Given the description of an element on the screen output the (x, y) to click on. 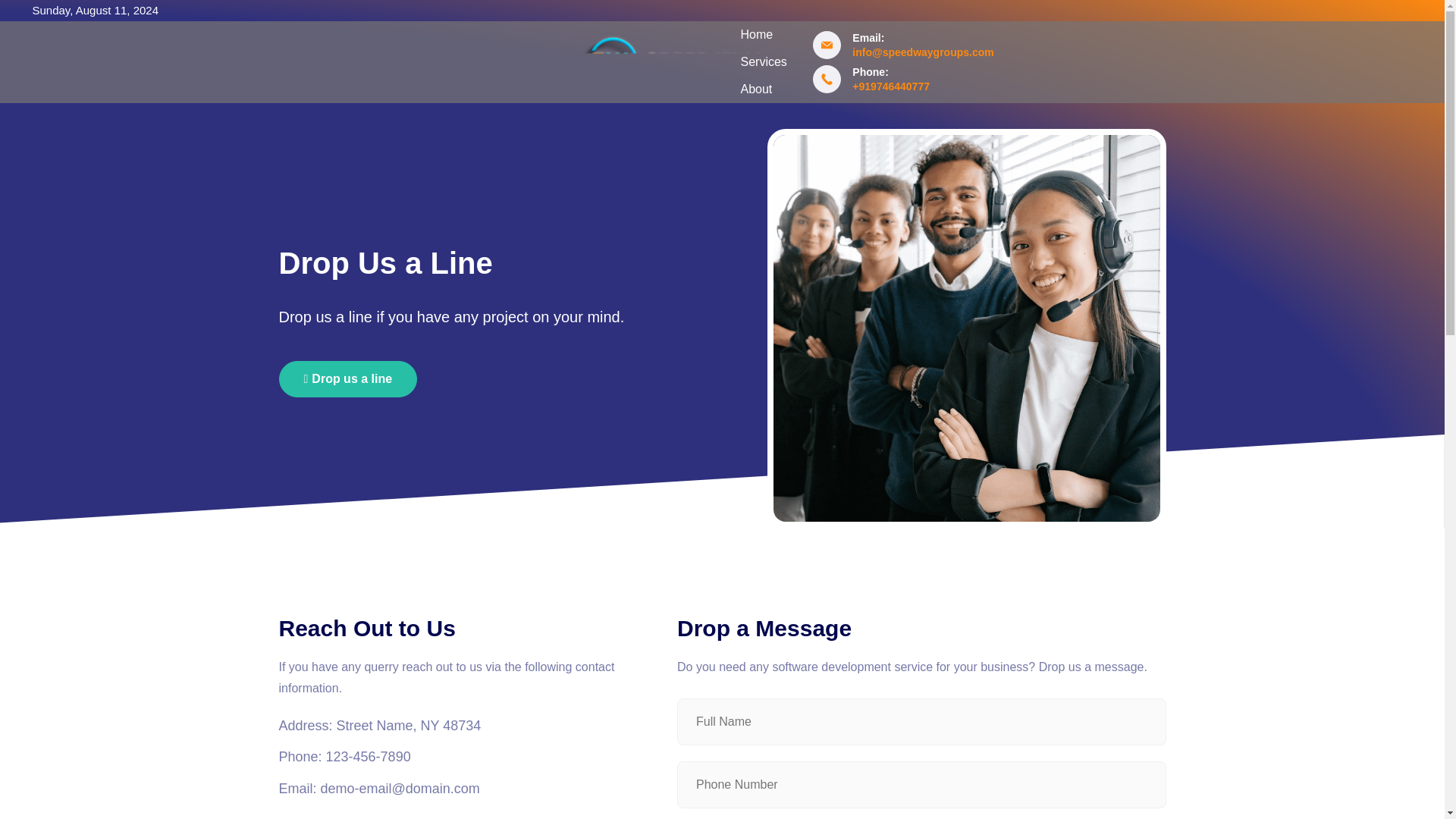
Services (762, 62)
Home (756, 34)
Drop us a line (348, 379)
About (756, 89)
